Given the description of an element on the screen output the (x, y) to click on. 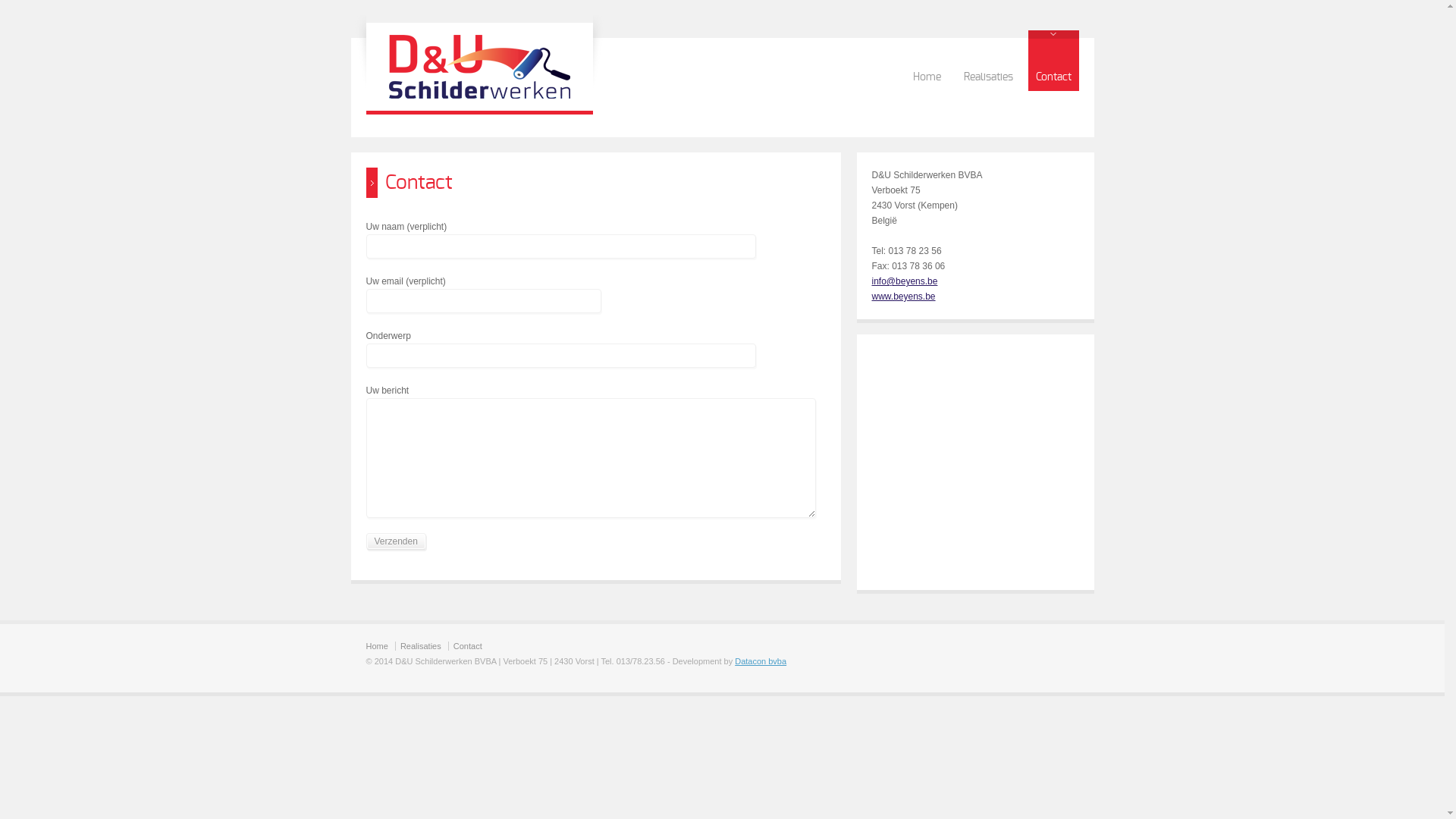
Realisaties Element type: text (987, 60)
Datacon bvba Element type: text (760, 660)
info@beyens.be Element type: text (905, 281)
Contact Element type: text (467, 645)
D&U Element type: hover (478, 95)
Home Element type: text (376, 645)
Home Element type: text (926, 60)
Verzenden Element type: text (395, 541)
www.beyens.be Element type: text (903, 296)
Realisaties Element type: text (420, 645)
Contact Element type: text (1053, 60)
